Given the description of an element on the screen output the (x, y) to click on. 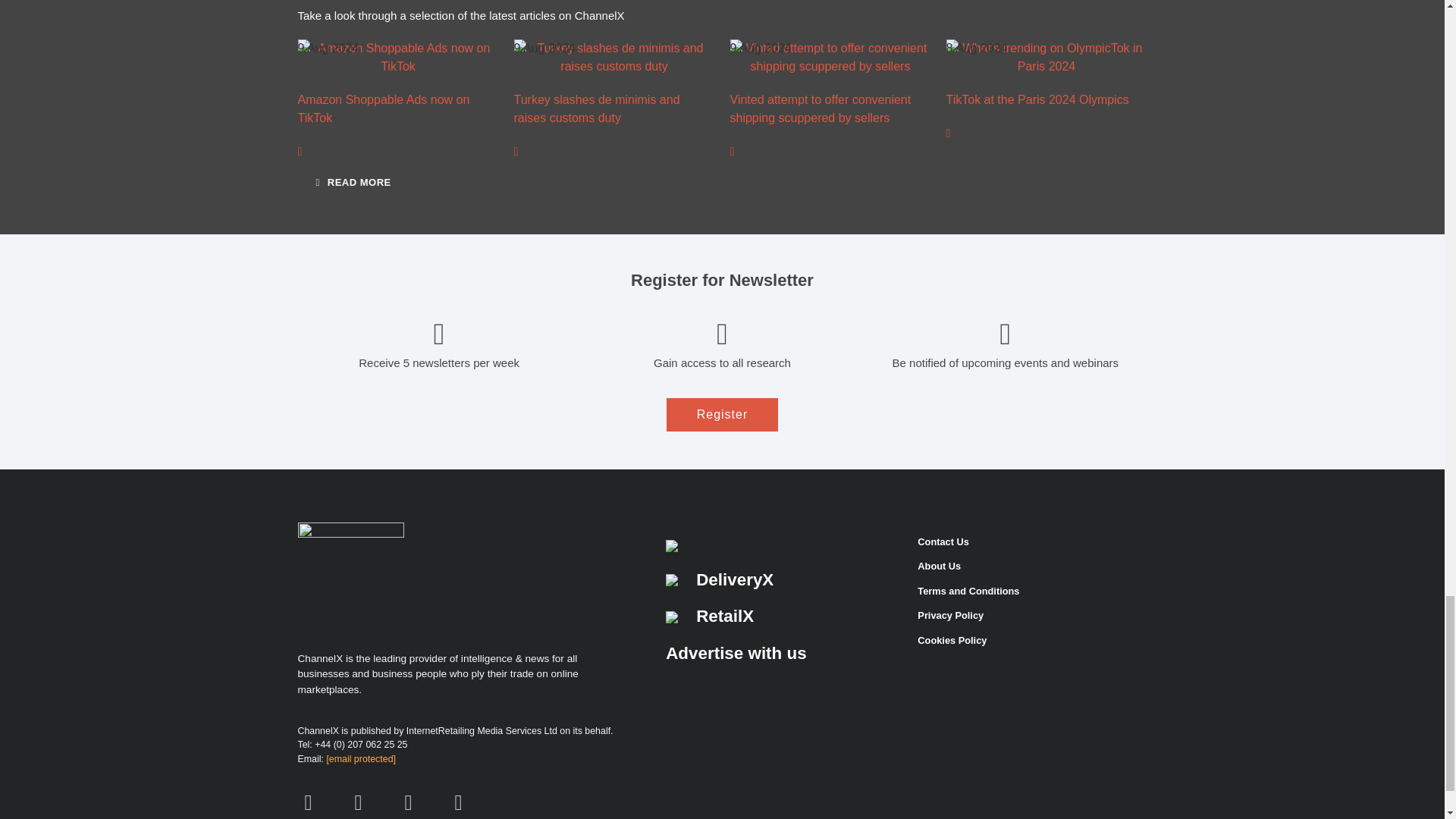
Turkey slashes de minimis and raises customs duty (613, 57)
Amazon Shoppable Ads now on TikTok (397, 57)
